Given the description of an element on the screen output the (x, y) to click on. 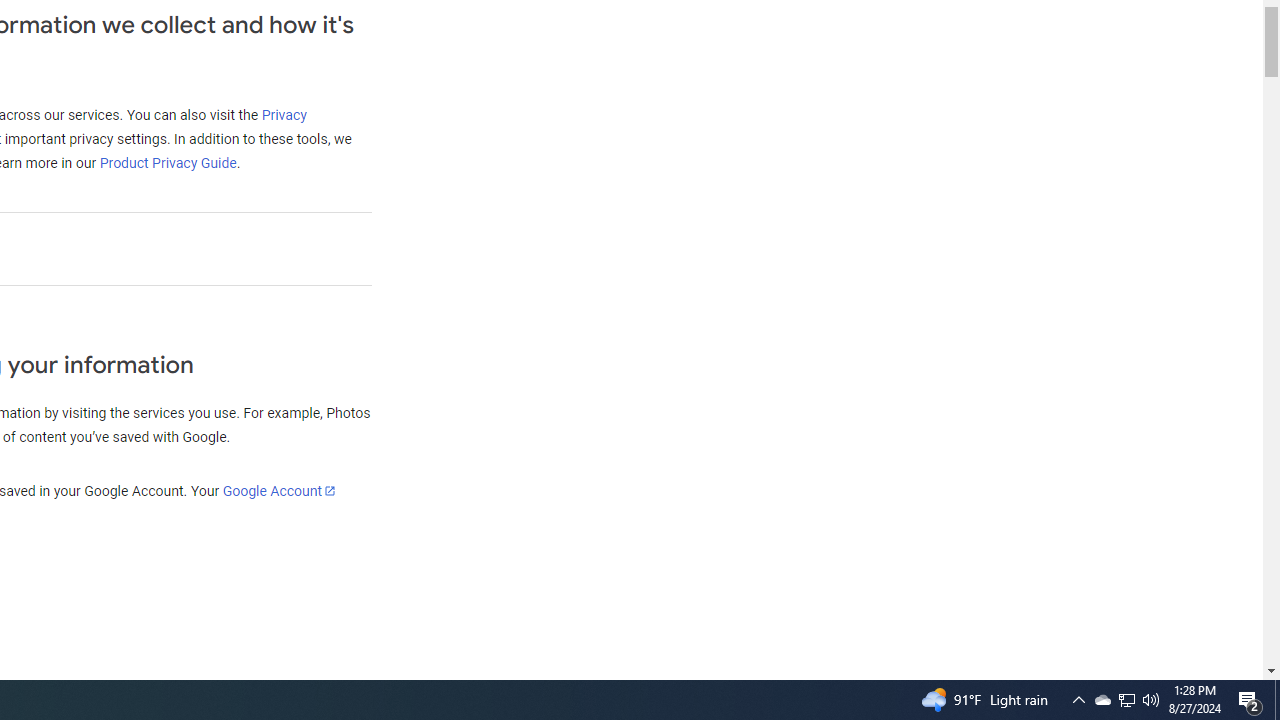
Product Privacy Guide (167, 163)
Google Account (278, 490)
